Given the description of an element on the screen output the (x, y) to click on. 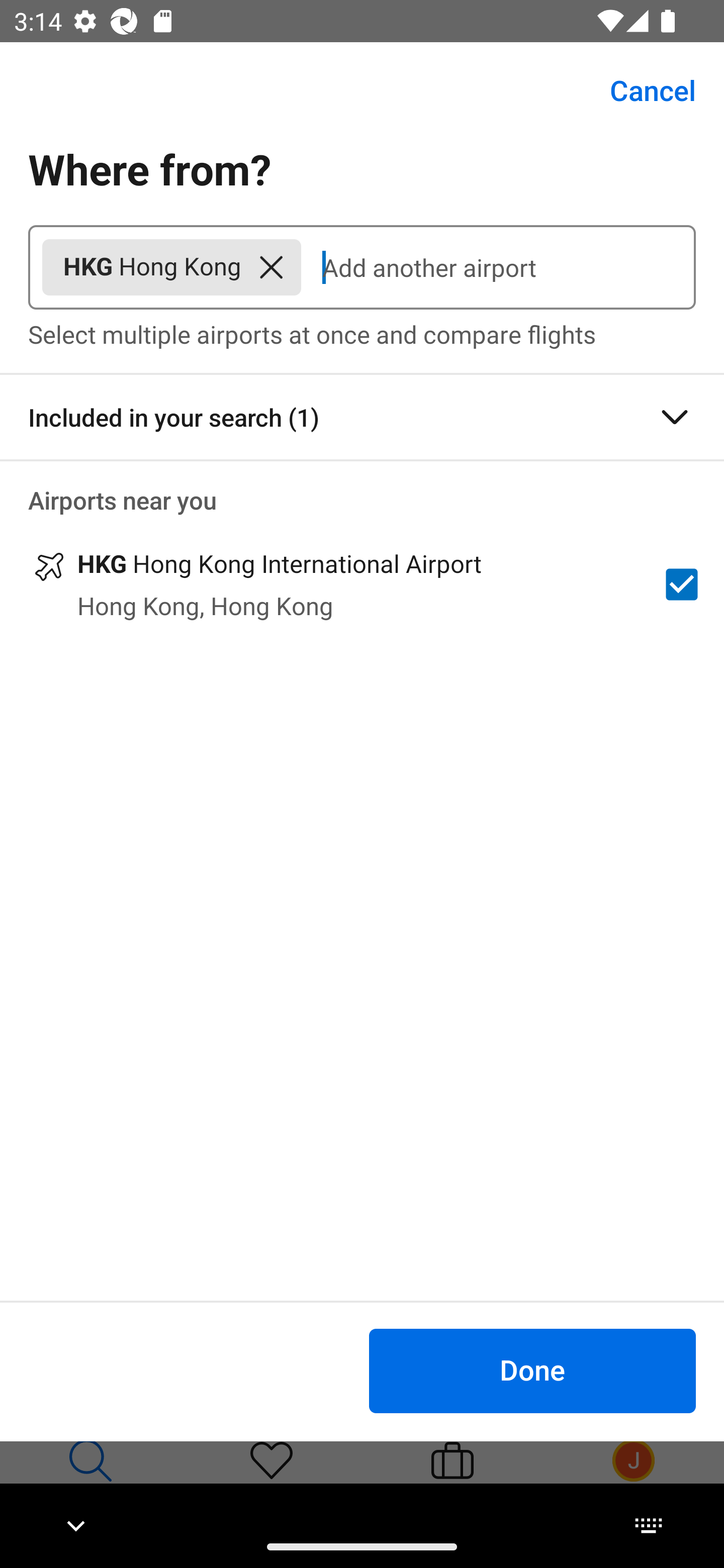
Cancel (641, 90)
Add another airport (498, 266)
HKG Hong Kong Remove HKG Hong Kong (171, 266)
Included in your search (1) (362, 416)
Done (532, 1370)
